Given the description of an element on the screen output the (x, y) to click on. 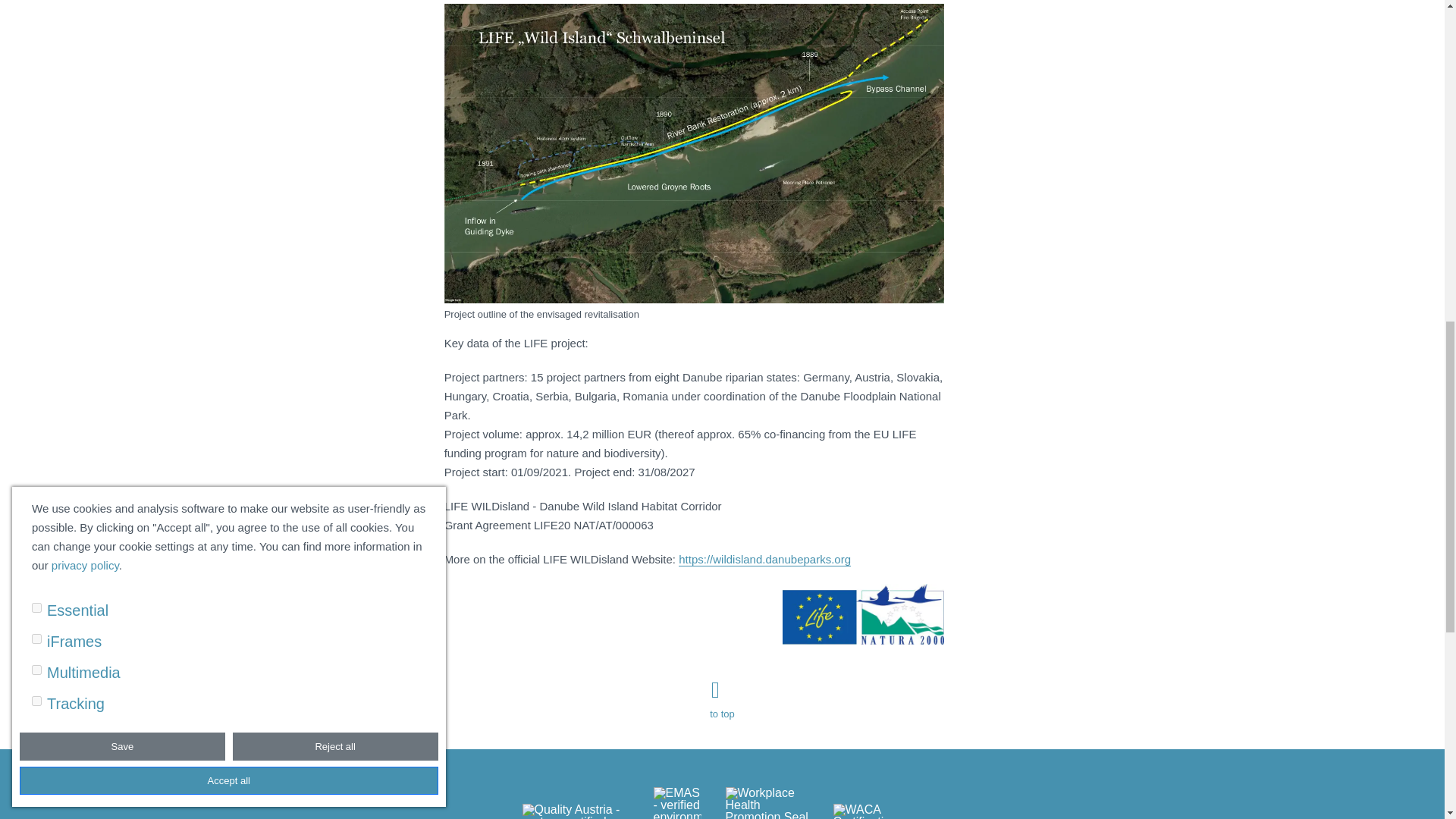
WACA Certification silver (876, 811)
Quality Austria - system certified (574, 811)
EMAS - verified environmental management (677, 803)
